Given the description of an element on the screen output the (x, y) to click on. 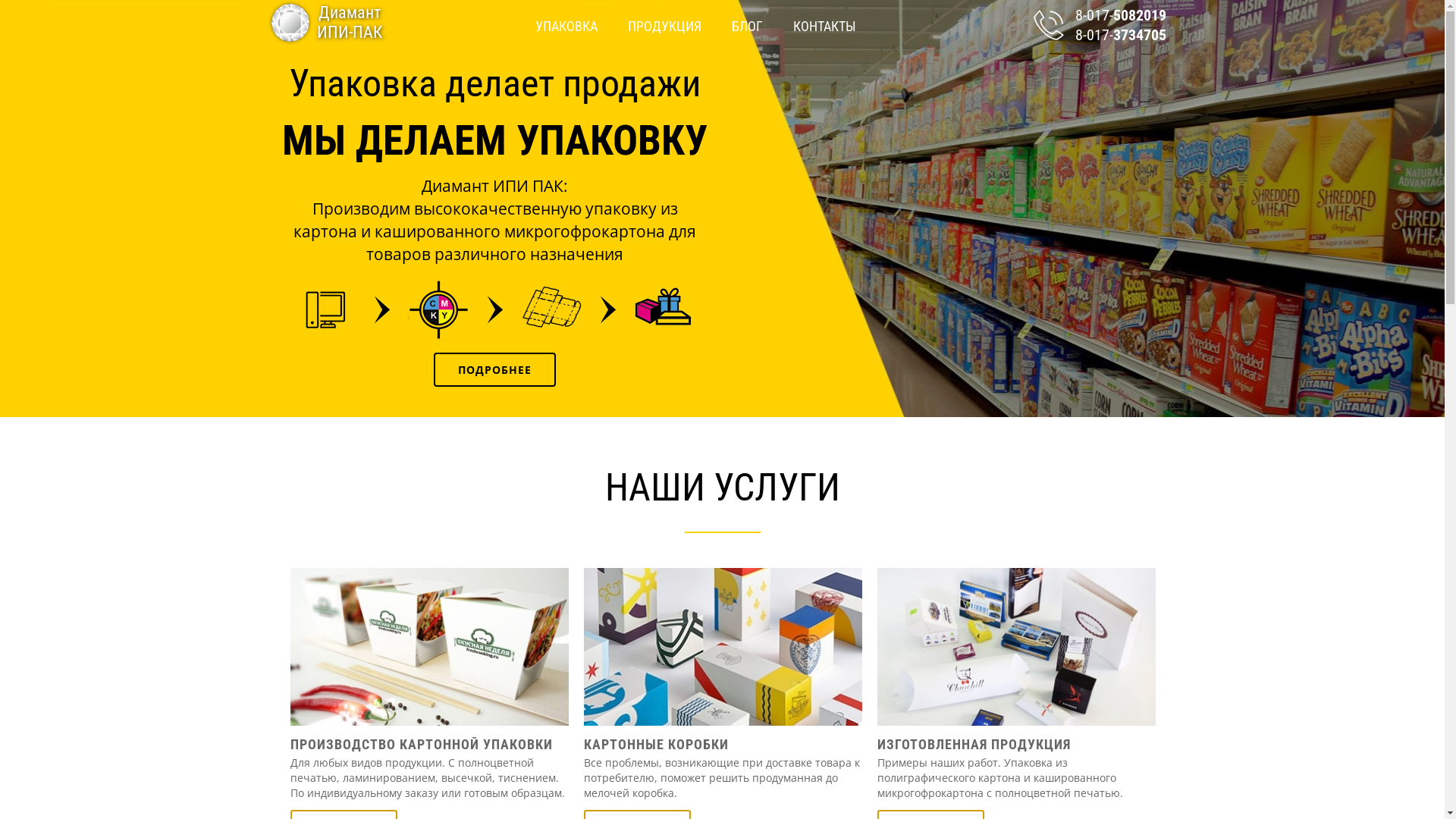
8-017-5082019 Element type: text (1104, 15)
8-017-3734705 Element type: text (1104, 35)
